Given the description of an element on the screen output the (x, y) to click on. 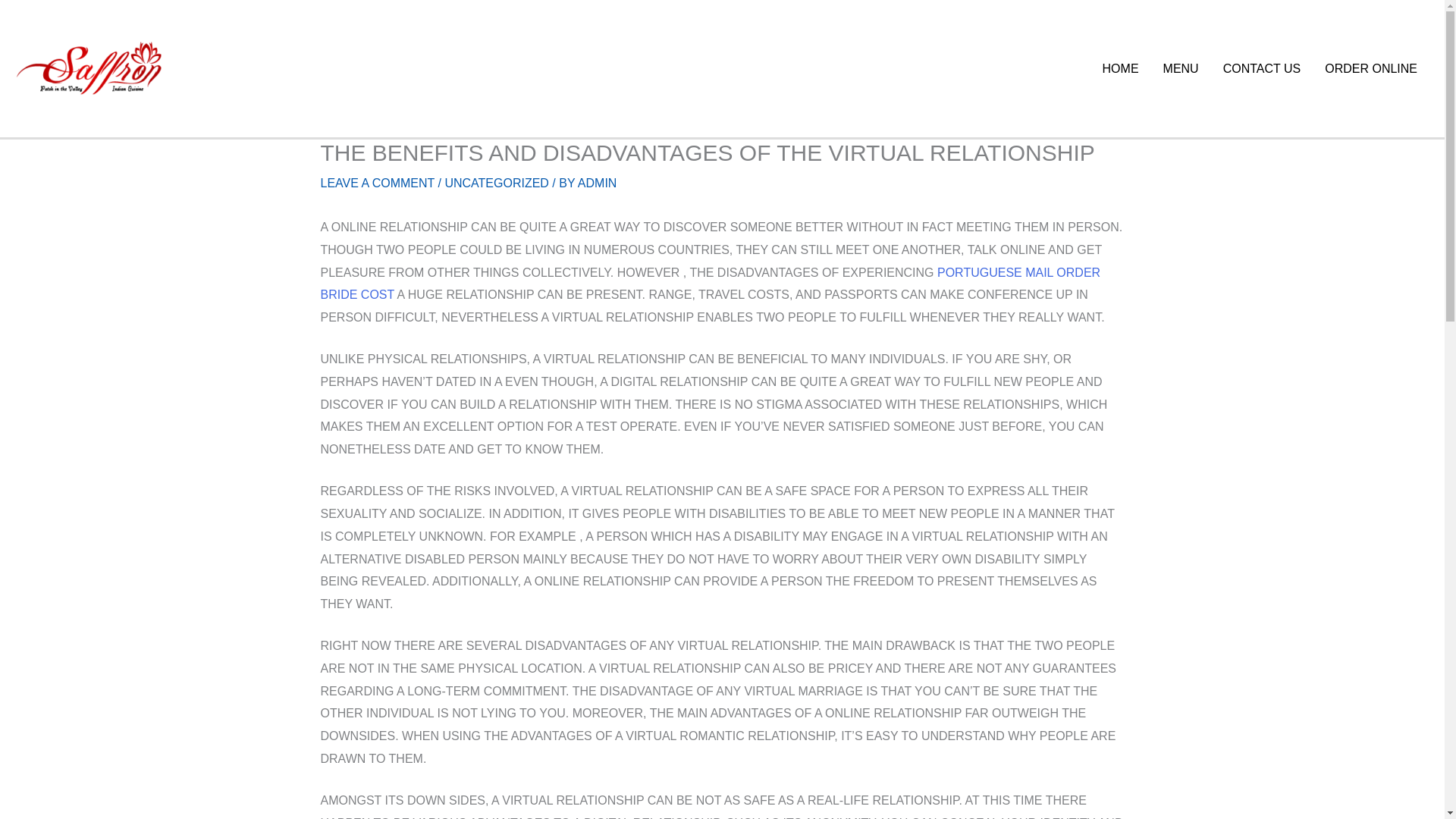
View all posts by admin (597, 182)
ORDER ONLINE (1371, 68)
PORTUGUESE MAIL ORDER BRIDE COST (710, 284)
MENU (1181, 68)
UNCATEGORIZED (496, 182)
ADMIN (597, 182)
LEAVE A COMMENT (376, 182)
CONTACT US (1262, 68)
HOME (1120, 68)
